Given the description of an element on the screen output the (x, y) to click on. 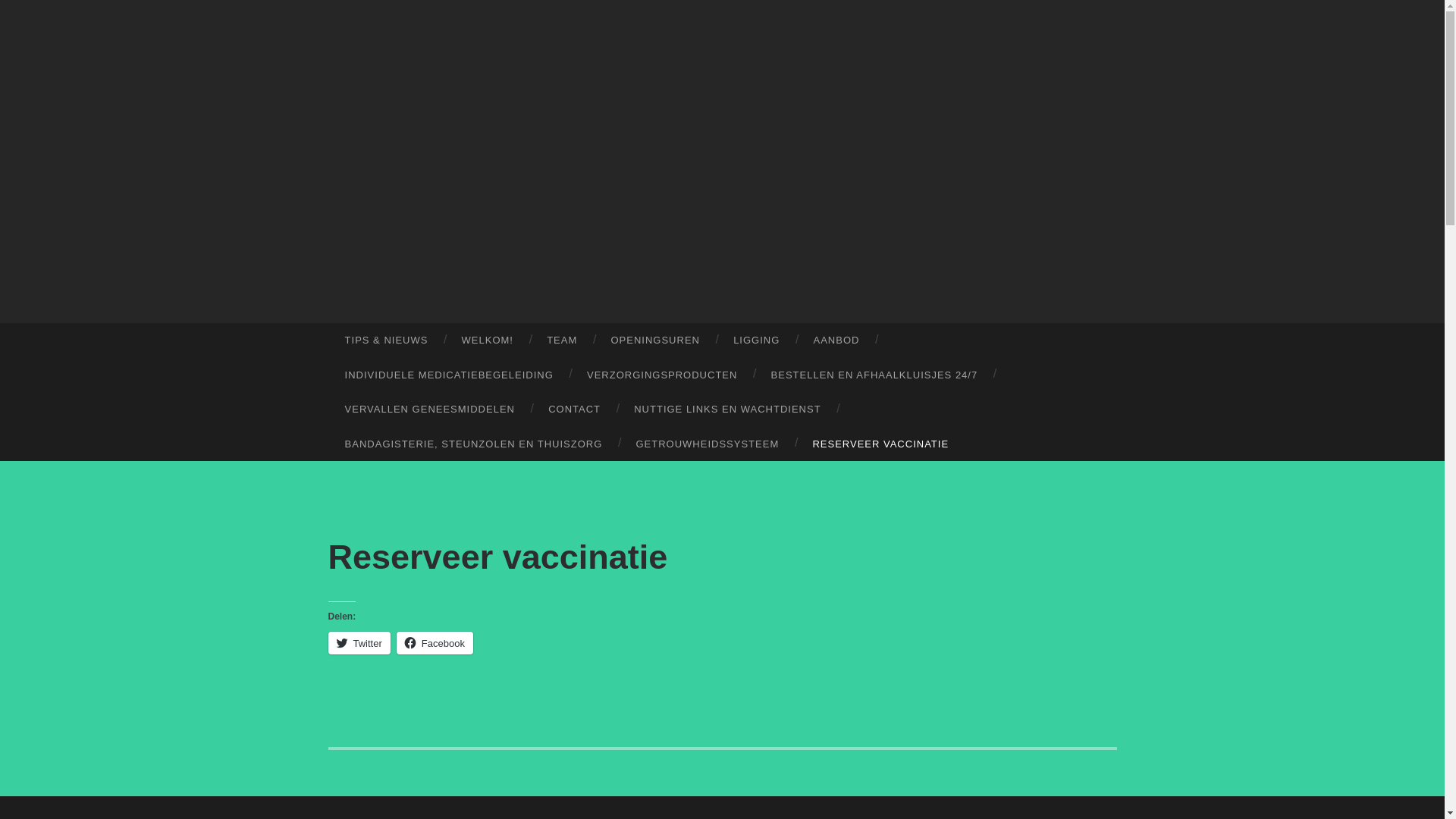
TEAM Element type: text (561, 340)
Twitter Element type: text (358, 642)
NUTTIGE LINKS EN WACHTDIENST Element type: text (727, 409)
WELKOM! Element type: text (487, 340)
AANBOD Element type: text (835, 340)
BESTELLEN EN AFHAALKLUISJES 24/7 Element type: text (873, 374)
TIPS & NIEUWS Element type: text (385, 340)
LIGGING Element type: text (756, 340)
CONTACT Element type: text (574, 409)
Facebook Element type: text (434, 642)
BANDAGISTERIE, STEUNZOLEN EN THUISZORG Element type: text (472, 443)
VERVALLEN GENEESMIDDELEN Element type: text (429, 409)
INDIVIDUELE MEDICATIEBEGELEIDING Element type: text (448, 374)
RESERVEER VACCINATIE Element type: text (880, 443)
GETROUWHEIDSSYSTEEM Element type: text (706, 443)
OPENINGSUREN Element type: text (654, 340)
VERZORGINGSPRODUCTEN Element type: text (662, 374)
